Given the description of an element on the screen output the (x, y) to click on. 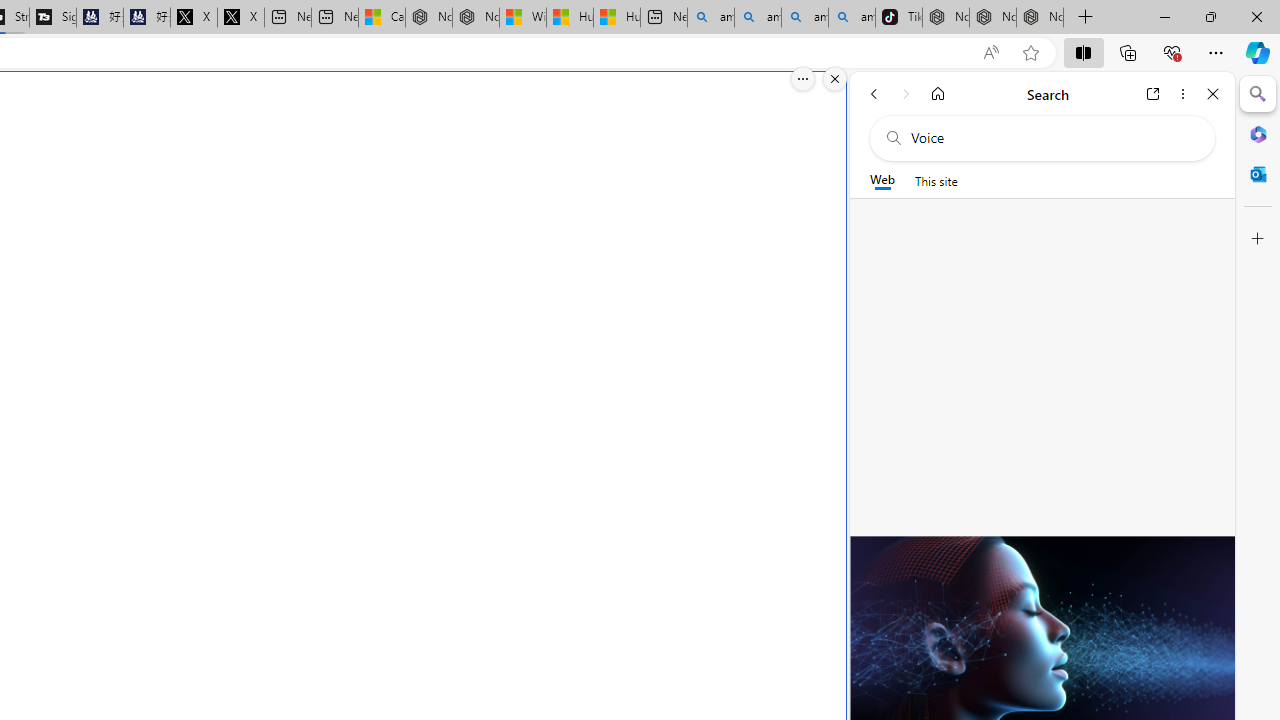
Nordace Siena Pro 15 Backpack (993, 17)
Nordace - Summer Adventures 2024 (476, 17)
Customize (1258, 239)
amazon - Search Images (852, 17)
More options (1182, 93)
Web scope (882, 180)
